Given the description of an element on the screen output the (x, y) to click on. 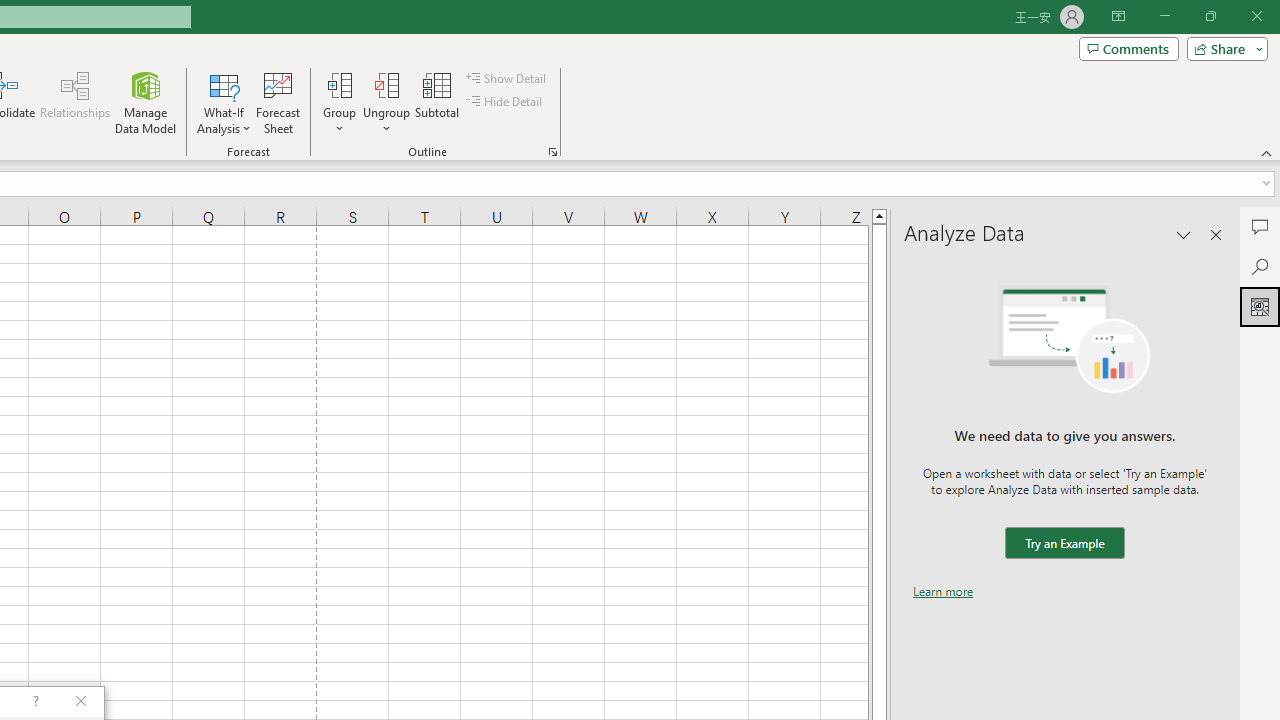
Subtotal (437, 102)
Comments (1260, 226)
Ribbon Display Options (1118, 16)
More Options (386, 121)
Group... (339, 84)
Minimize (1164, 16)
We need data to give you answers. Try an Example (1064, 543)
Show Detail (507, 78)
Group and Outline Settings (552, 151)
Line up (879, 215)
Ungroup... (386, 102)
Learn more (943, 591)
Forecast Sheet (278, 102)
What-If Analysis (223, 102)
